Given the description of an element on the screen output the (x, y) to click on. 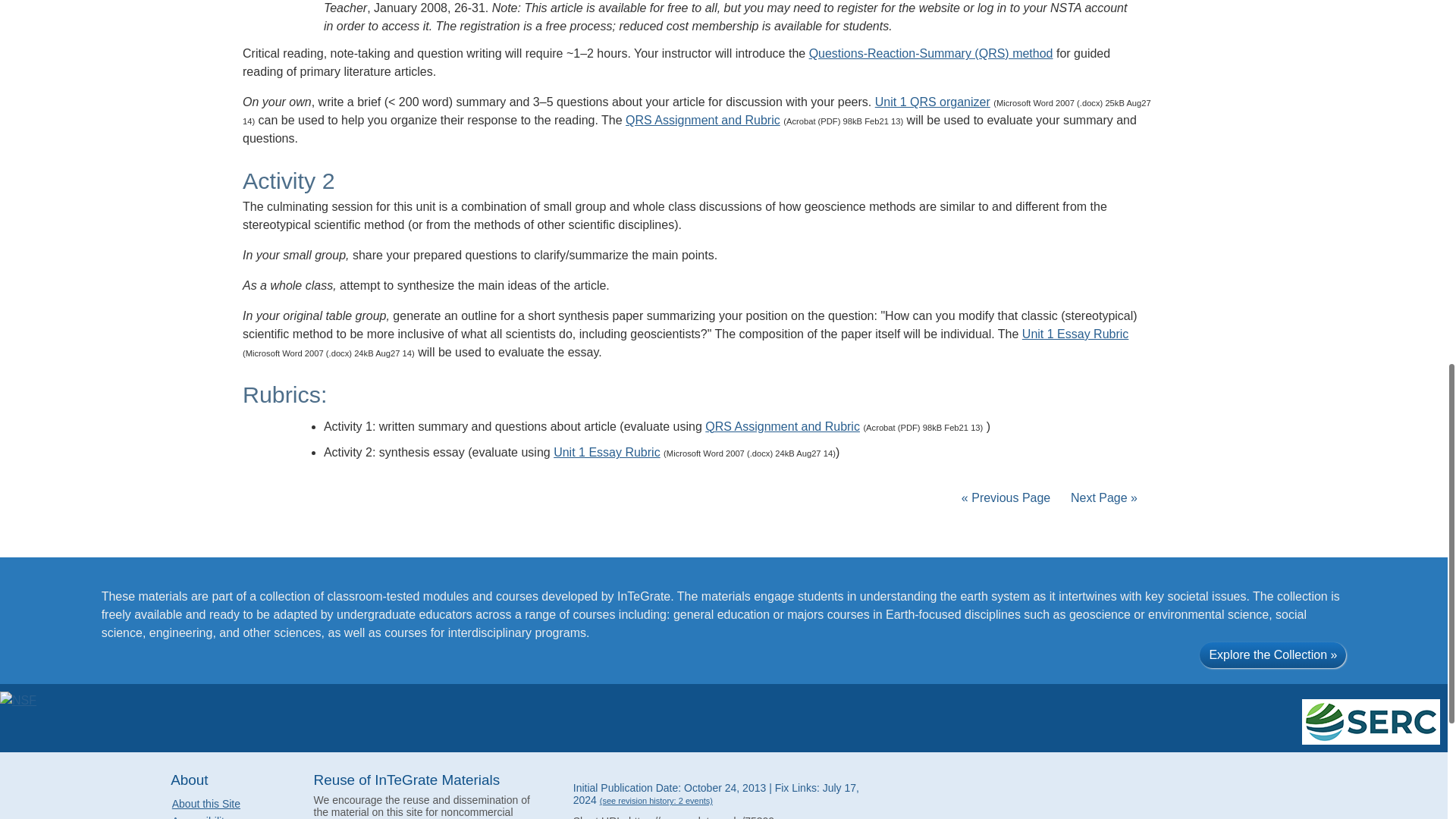
Unit 1 QRS organizer (932, 101)
Unit 1 Essay Rubric (1075, 333)
QRS Assignment and Rubric (703, 119)
Unit 1 Essay Rubric (607, 451)
QRS Assignment and Rubric (782, 426)
